Given the description of an element on the screen output the (x, y) to click on. 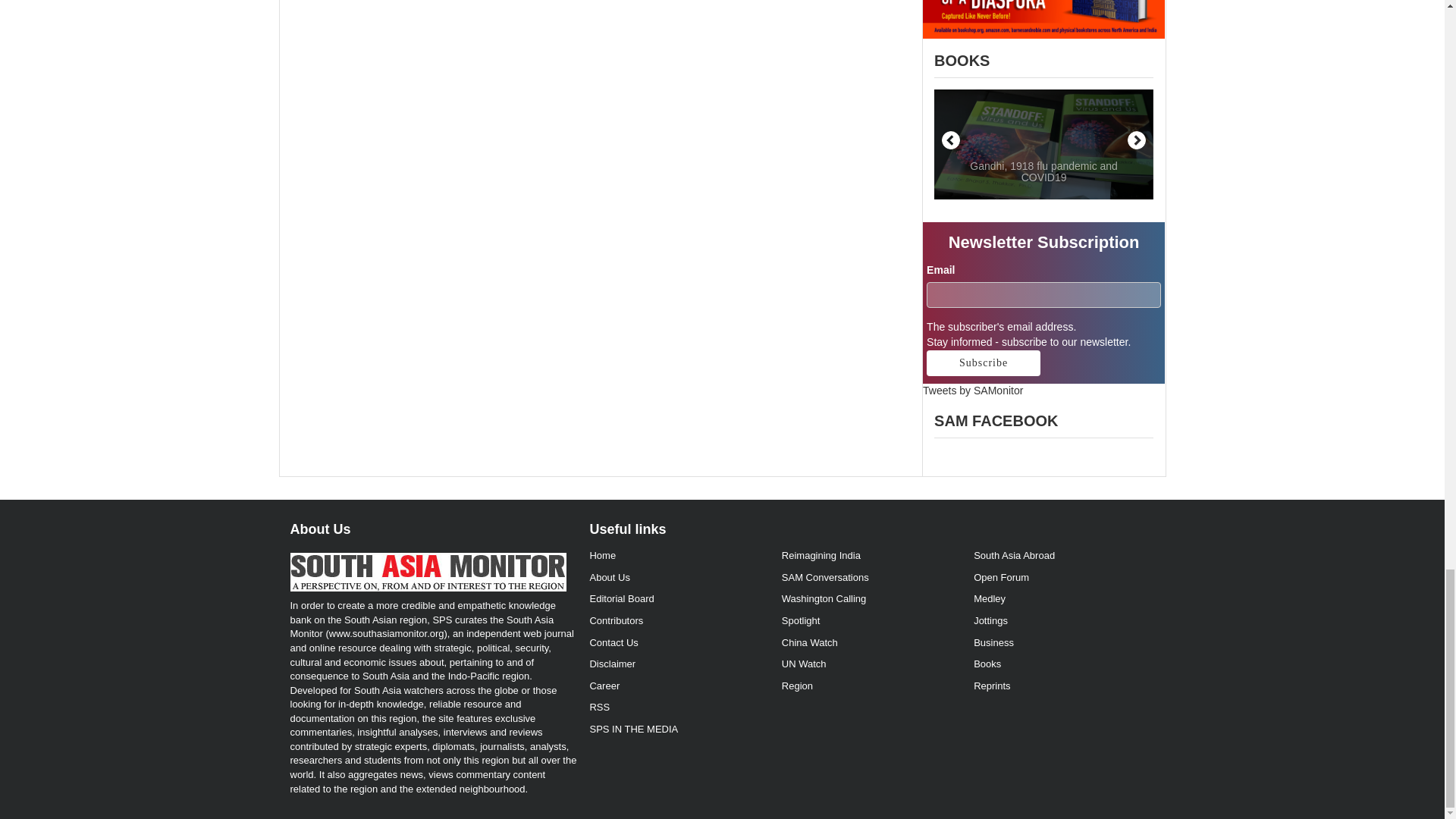
Subscribe (983, 362)
